Given the description of an element on the screen output the (x, y) to click on. 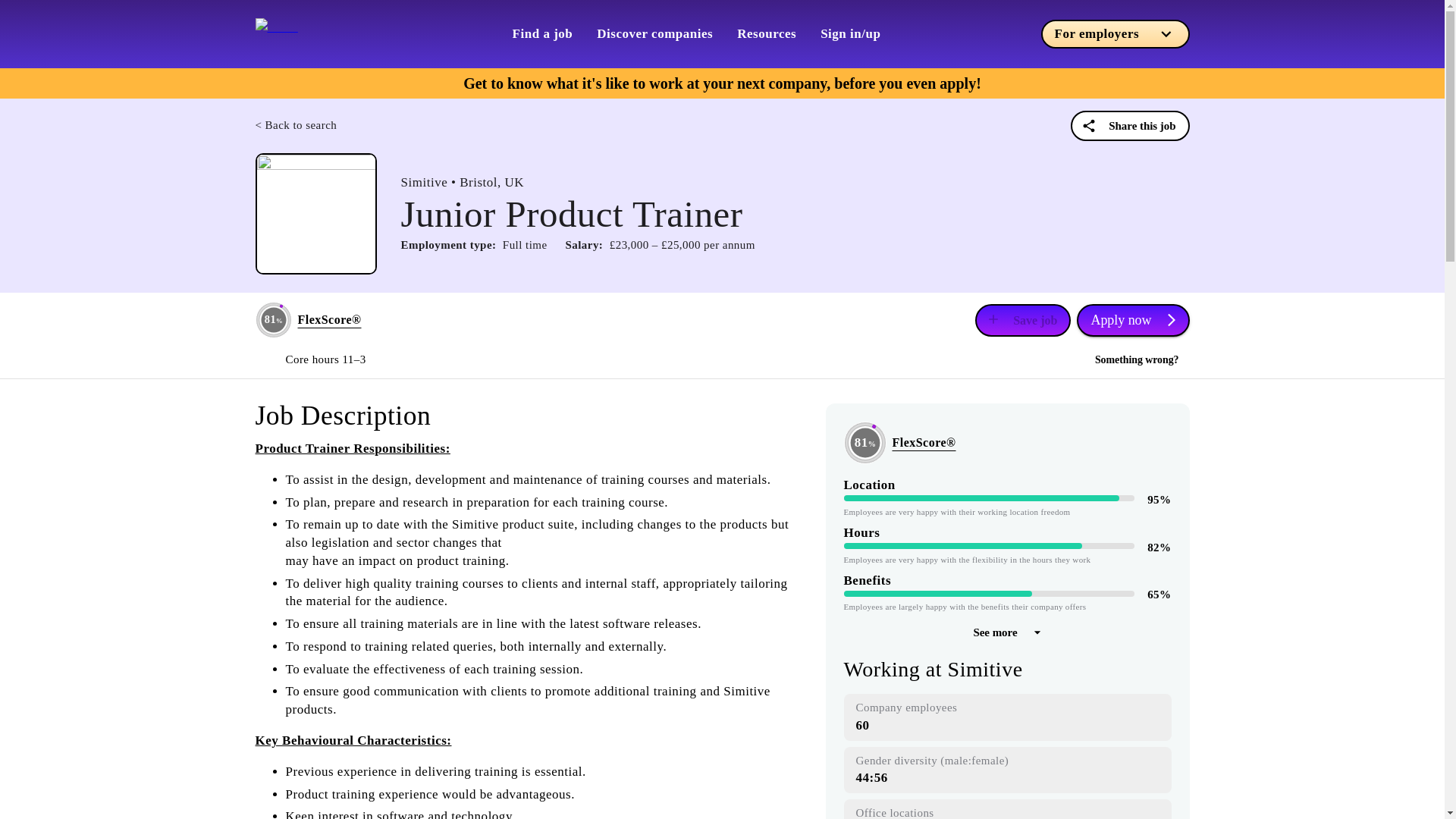
Discover companies (654, 33)
See more (1006, 632)
Find a job (542, 33)
Something wrong? (1136, 360)
For employers (1115, 33)
Apply now (1133, 319)
Share this job (1129, 125)
Save job (1022, 319)
Resources (766, 33)
